Given the description of an element on the screen output the (x, y) to click on. 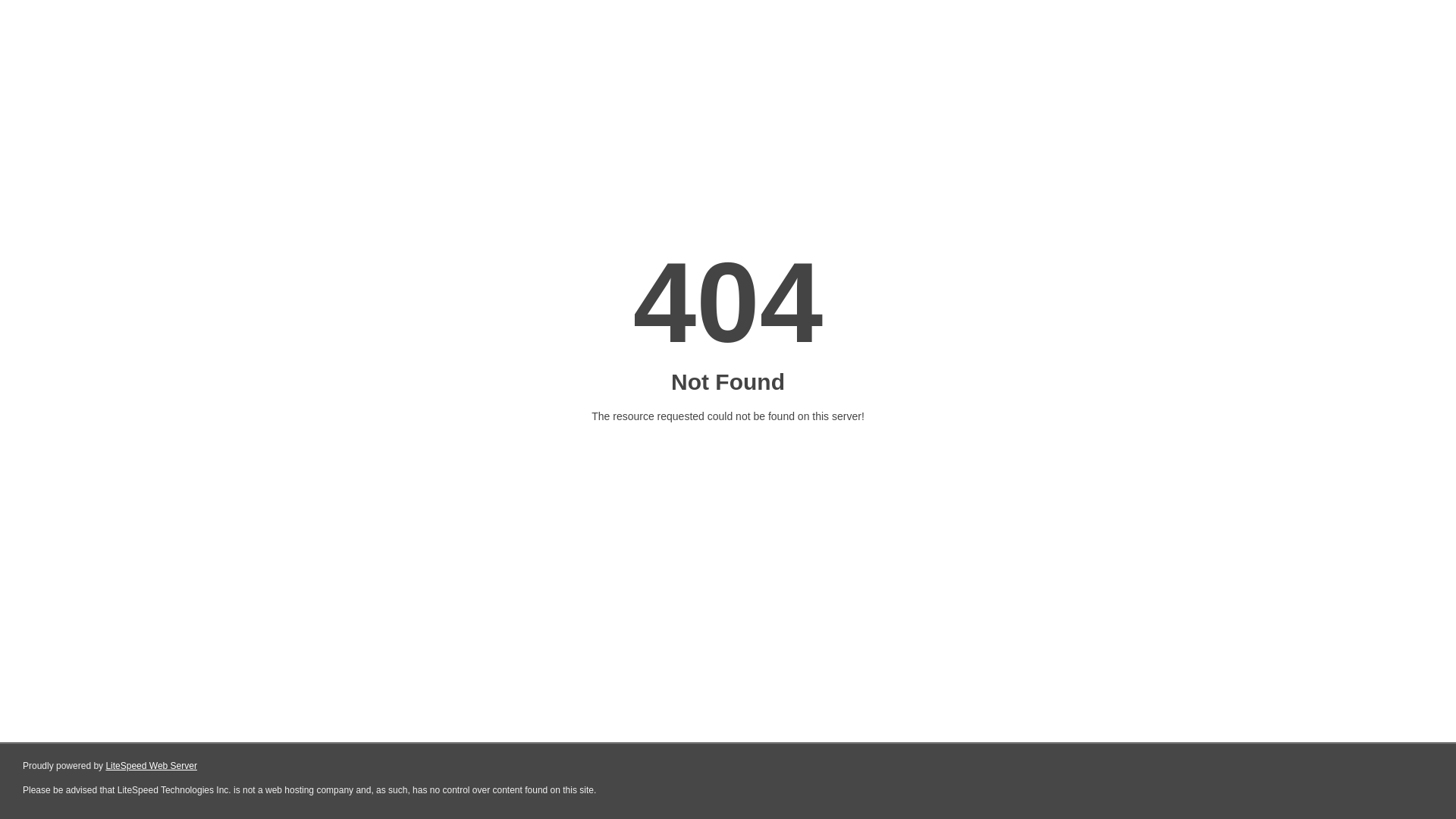
LiteSpeed Web Server Element type: text (151, 765)
